Given the description of an element on the screen output the (x, y) to click on. 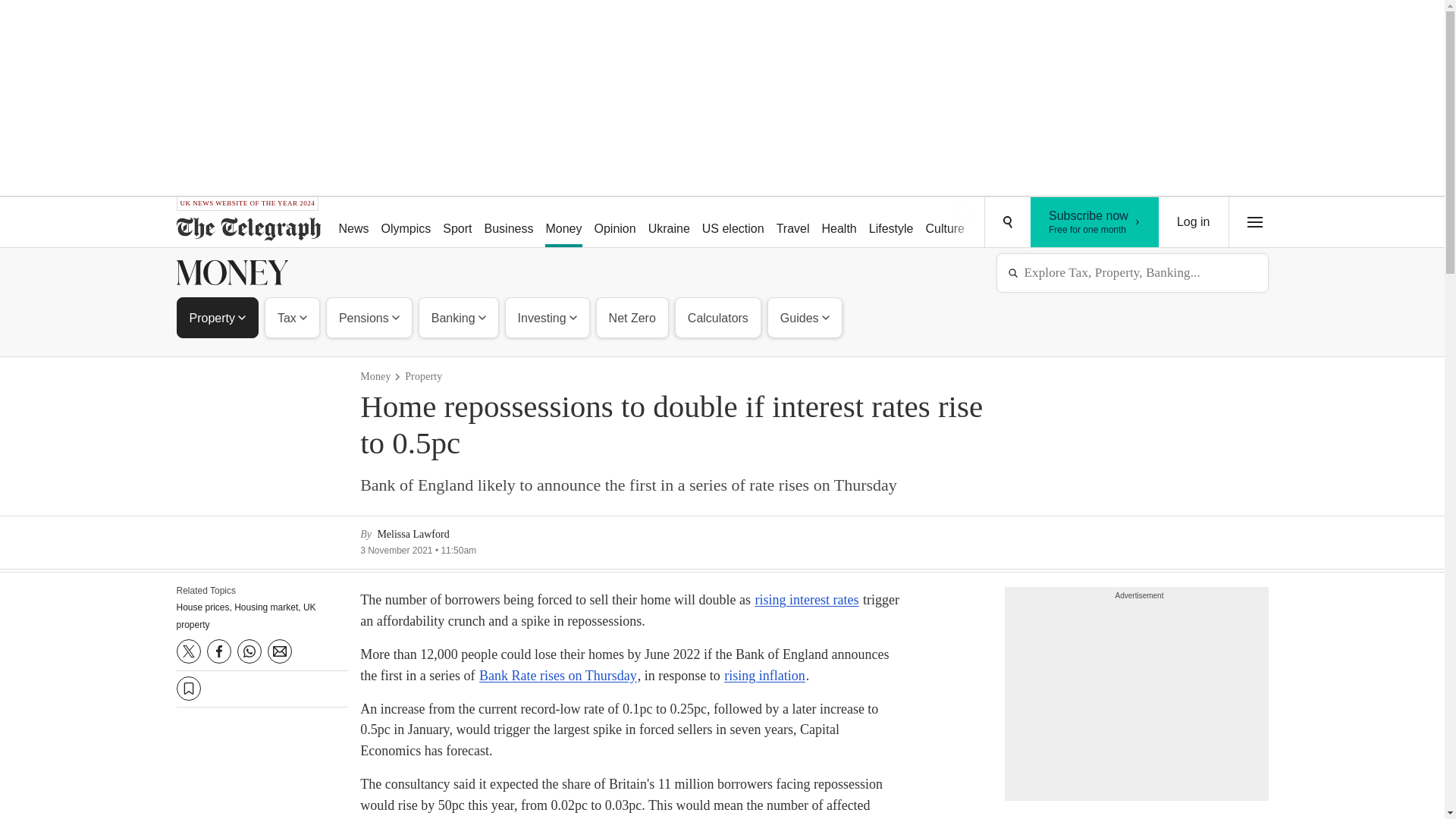
Tax (291, 317)
Property (217, 317)
Business (509, 223)
Pensions (369, 317)
Culture (944, 223)
US election (732, 223)
Lifestyle (891, 223)
Log in (1193, 222)
Money (563, 223)
Health (838, 223)
Podcasts (1094, 222)
Olympics (1056, 223)
Travel (406, 223)
Puzzles (792, 223)
